Given the description of an element on the screen output the (x, y) to click on. 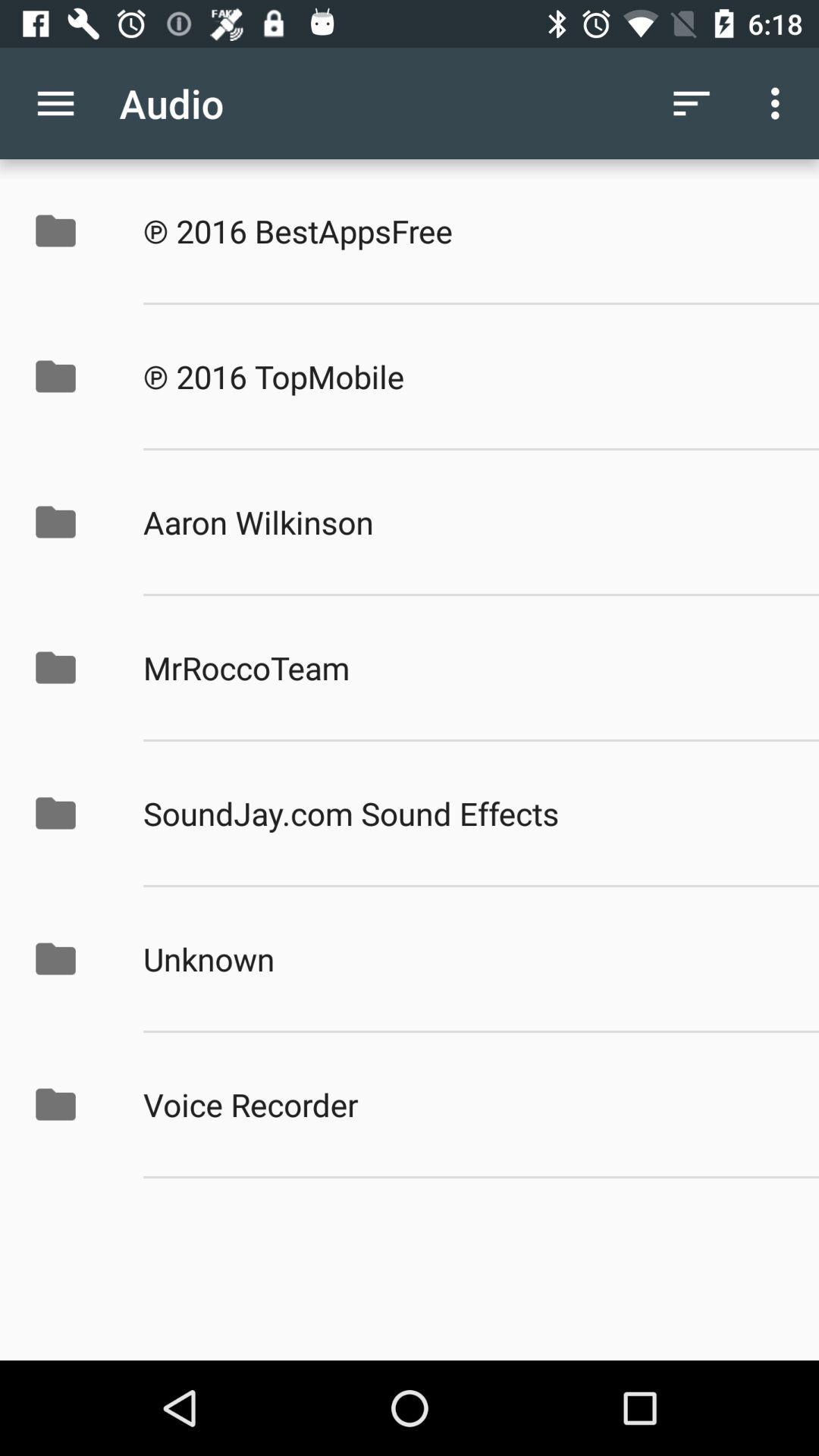
open item below unknown app (465, 1104)
